Given the description of an element on the screen output the (x, y) to click on. 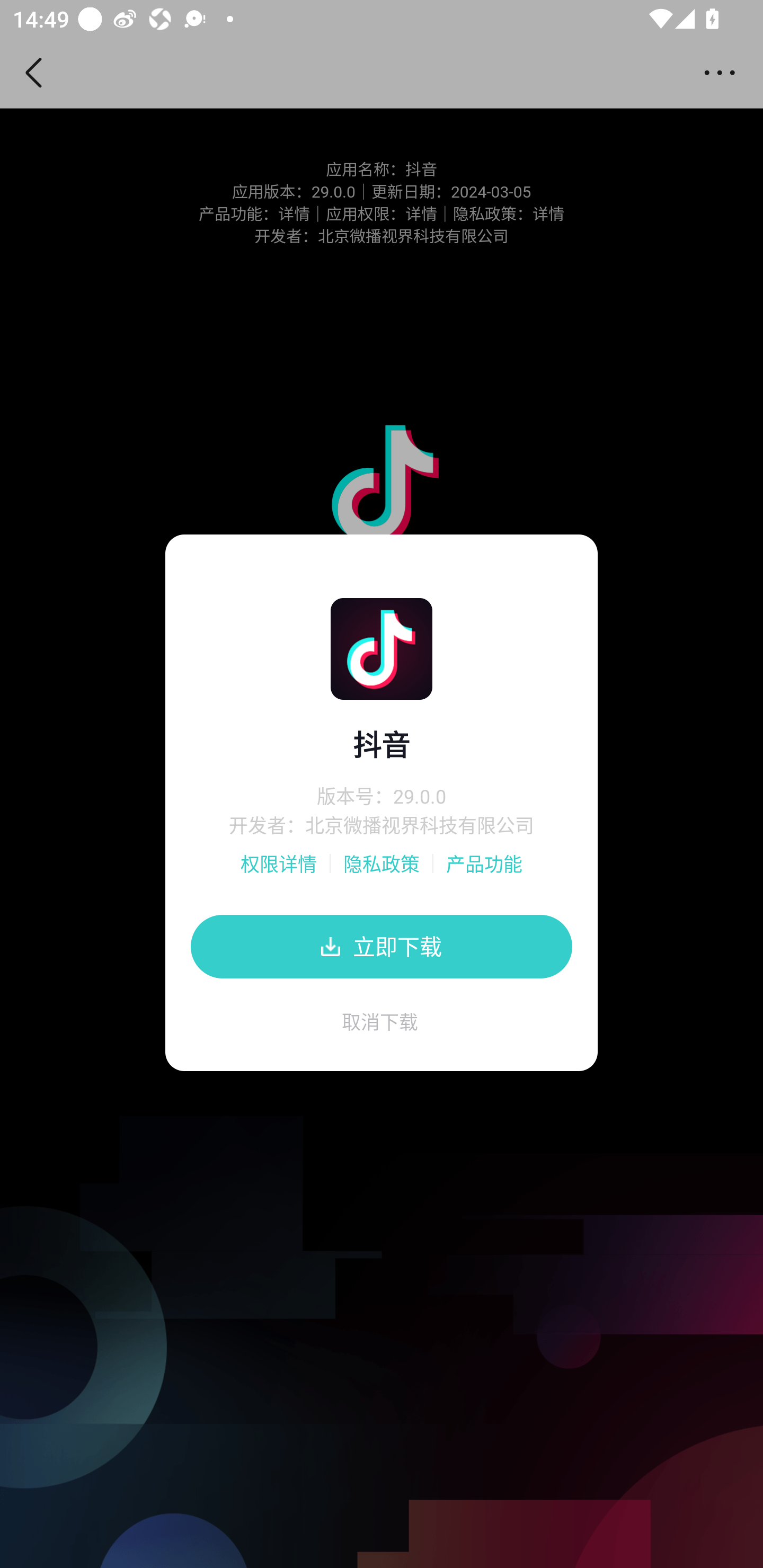
权限详情 (278, 863)
隐私政策 (381, 863)
产品功能 (483, 863)
立即下载 (381, 946)
取消下载 (381, 1027)
